Given the description of an element on the screen output the (x, y) to click on. 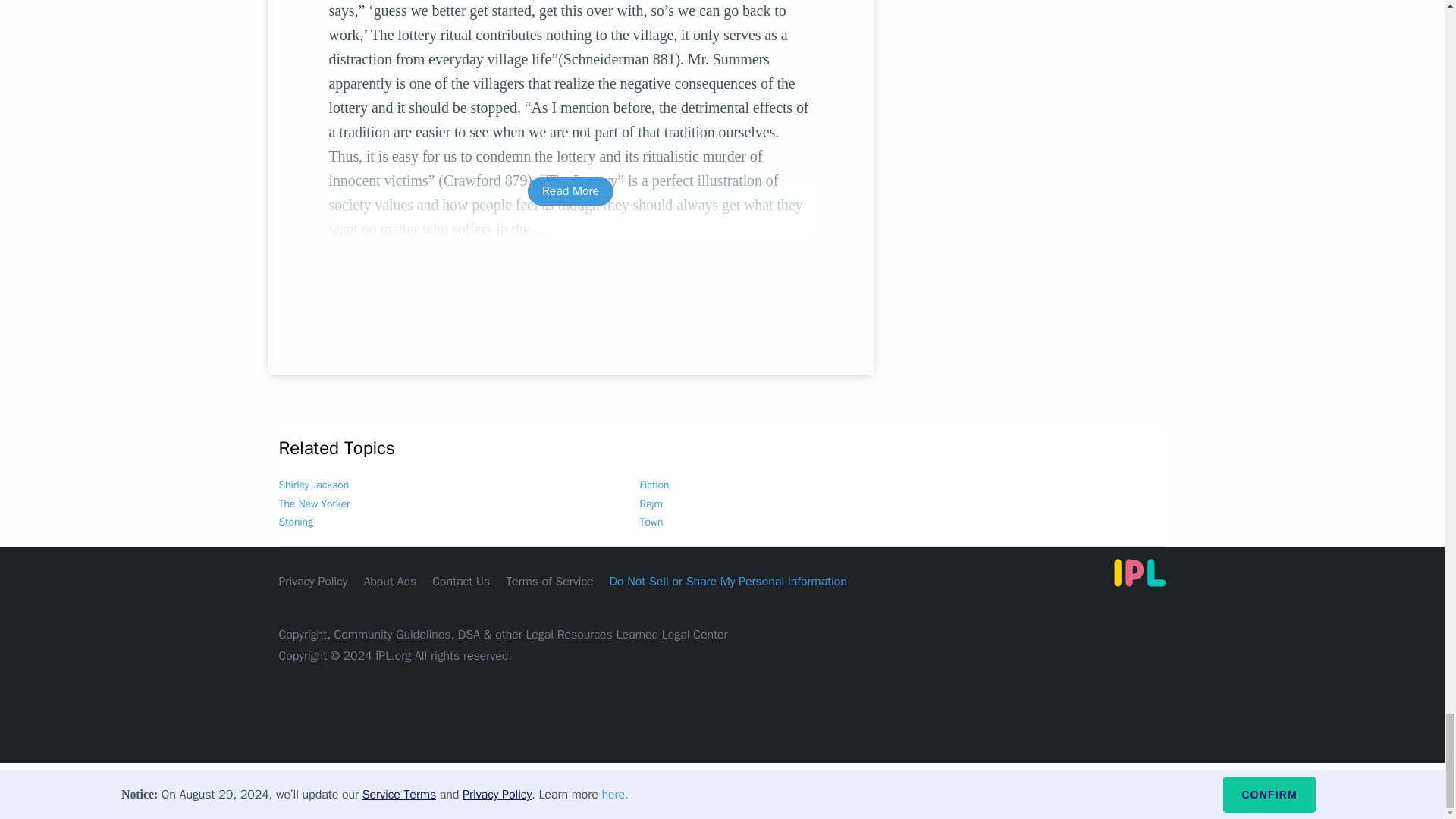
About Ads (389, 581)
The New Yorker (314, 503)
Contact Us (460, 581)
Terms of Service (548, 581)
Rajm (651, 503)
Town (651, 521)
Fiction (654, 484)
Stoning (296, 521)
Privacy Policy (313, 581)
Shirley Jackson (314, 484)
